Given the description of an element on the screen output the (x, y) to click on. 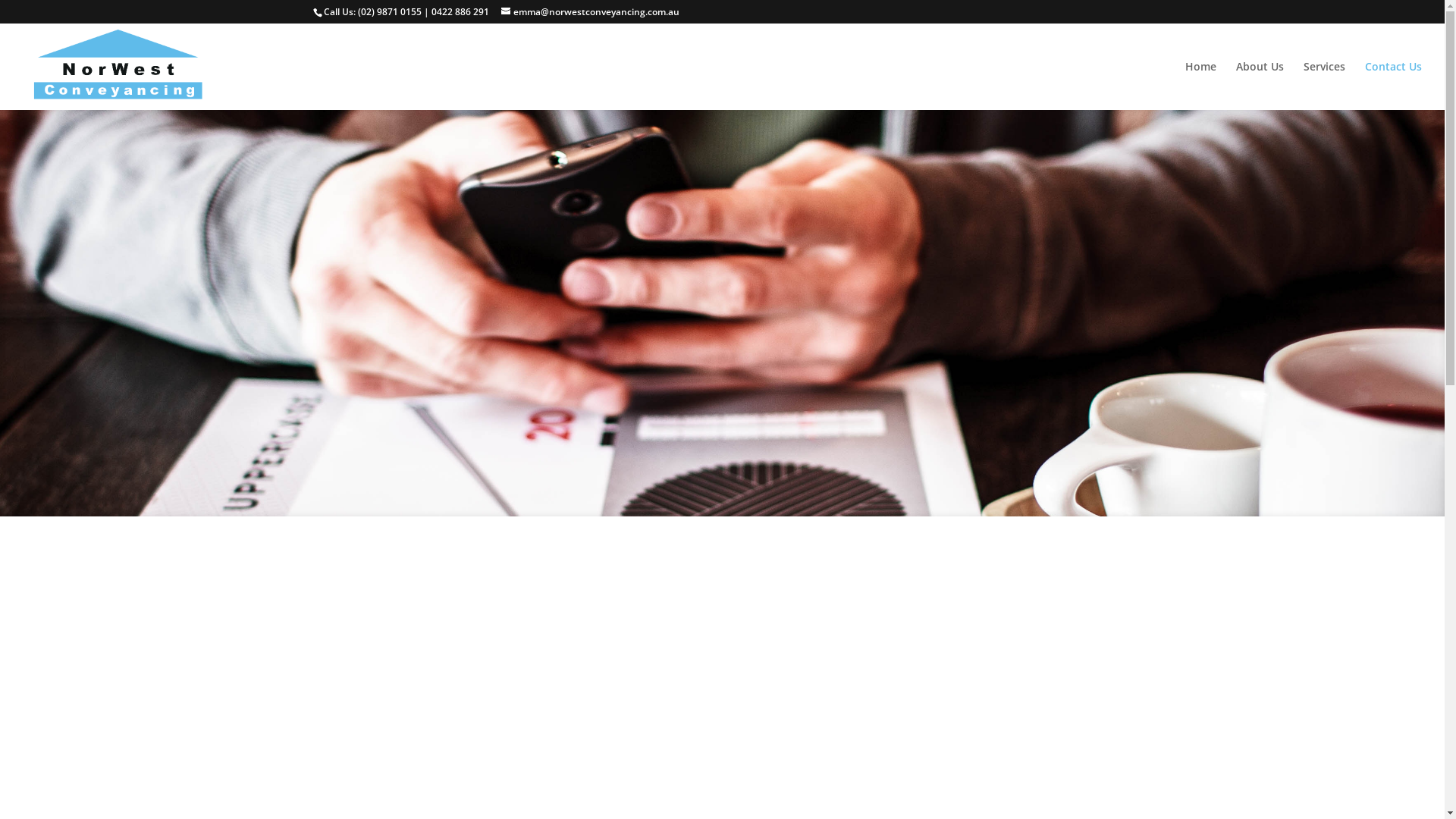
emma@norwestconveyancing.com.au Element type: text (589, 11)
Home Element type: text (1200, 85)
Contact Us Element type: text (1393, 85)
About Us Element type: text (1259, 85)
Services Element type: text (1324, 85)
